Given the description of an element on the screen output the (x, y) to click on. 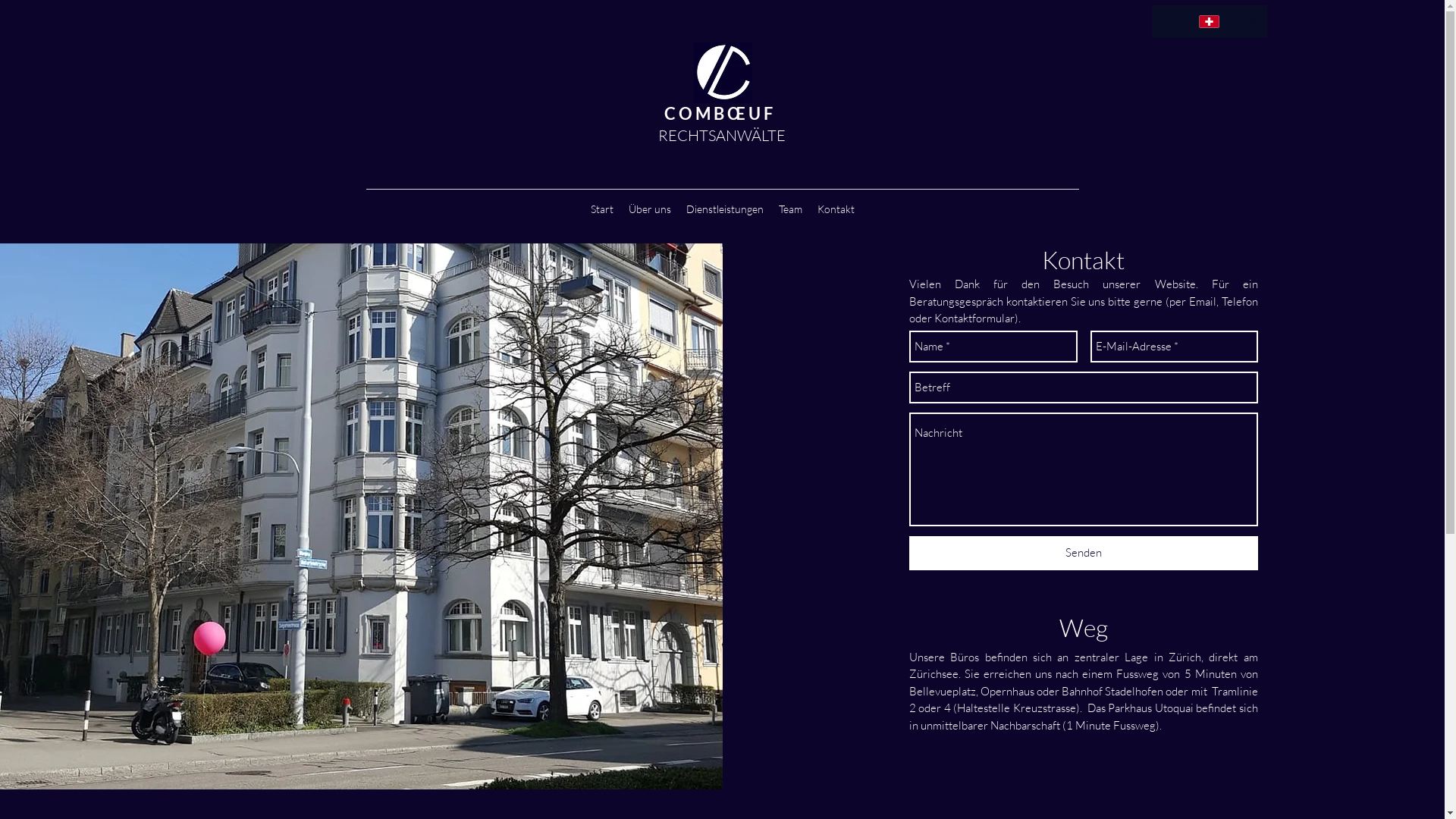
Kontakt Element type: text (835, 208)
Senden Element type: text (1083, 553)
Start Element type: text (601, 208)
Team Element type: text (789, 208)
Dienstleistungen Element type: text (723, 208)
